Given the description of an element on the screen output the (x, y) to click on. 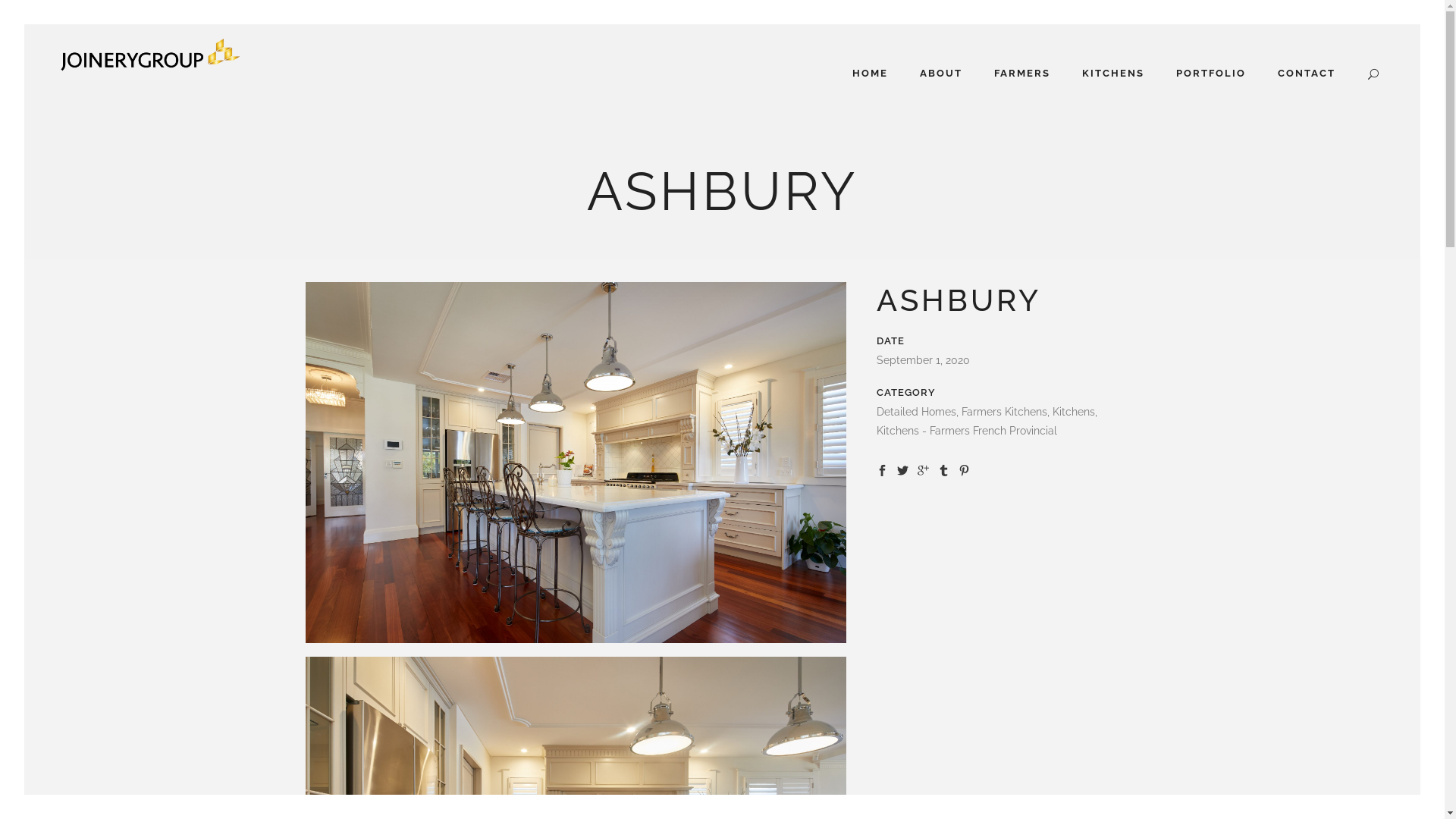
Share on Tumblr Element type: hover (943, 469)
KITCHENS Element type: text (1112, 73)
Share on Twitter Element type: hover (902, 469)
Share on Pinterest Element type: hover (963, 469)
ABOUT Element type: text (940, 73)
U Element type: text (992, 410)
JG-40Cheviot_W2A6610 Element type: hover (574, 462)
HOME Element type: text (869, 73)
CONTACT Element type: text (1306, 73)
FARMERS Element type: text (1021, 73)
PORTFOLIO Element type: text (1210, 73)
Share on Google+ Element type: hover (922, 469)
Share on Facebook Element type: hover (882, 469)
